Given the description of an element on the screen output the (x, y) to click on. 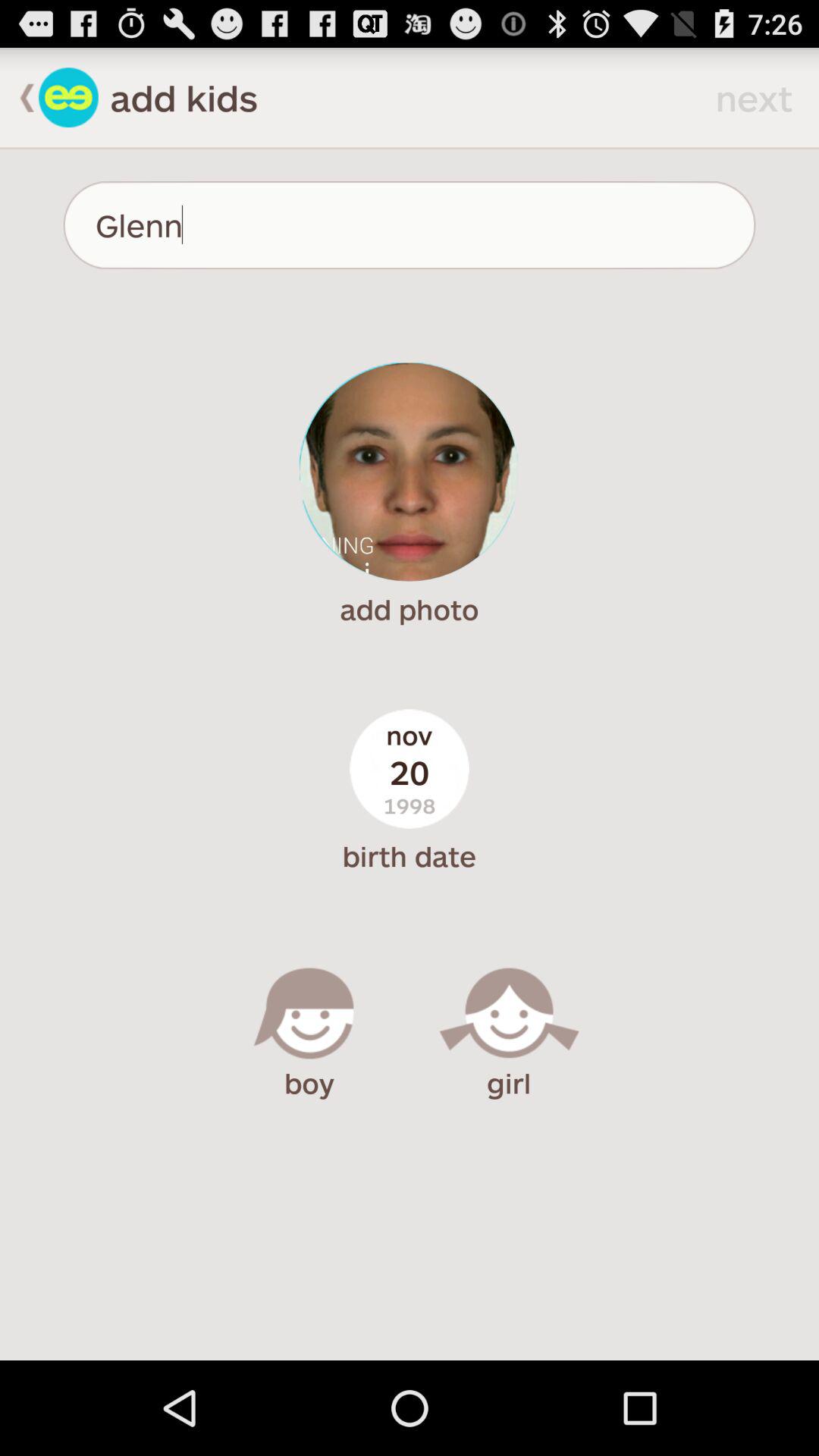
add kids (68, 97)
